Given the description of an element on the screen output the (x, y) to click on. 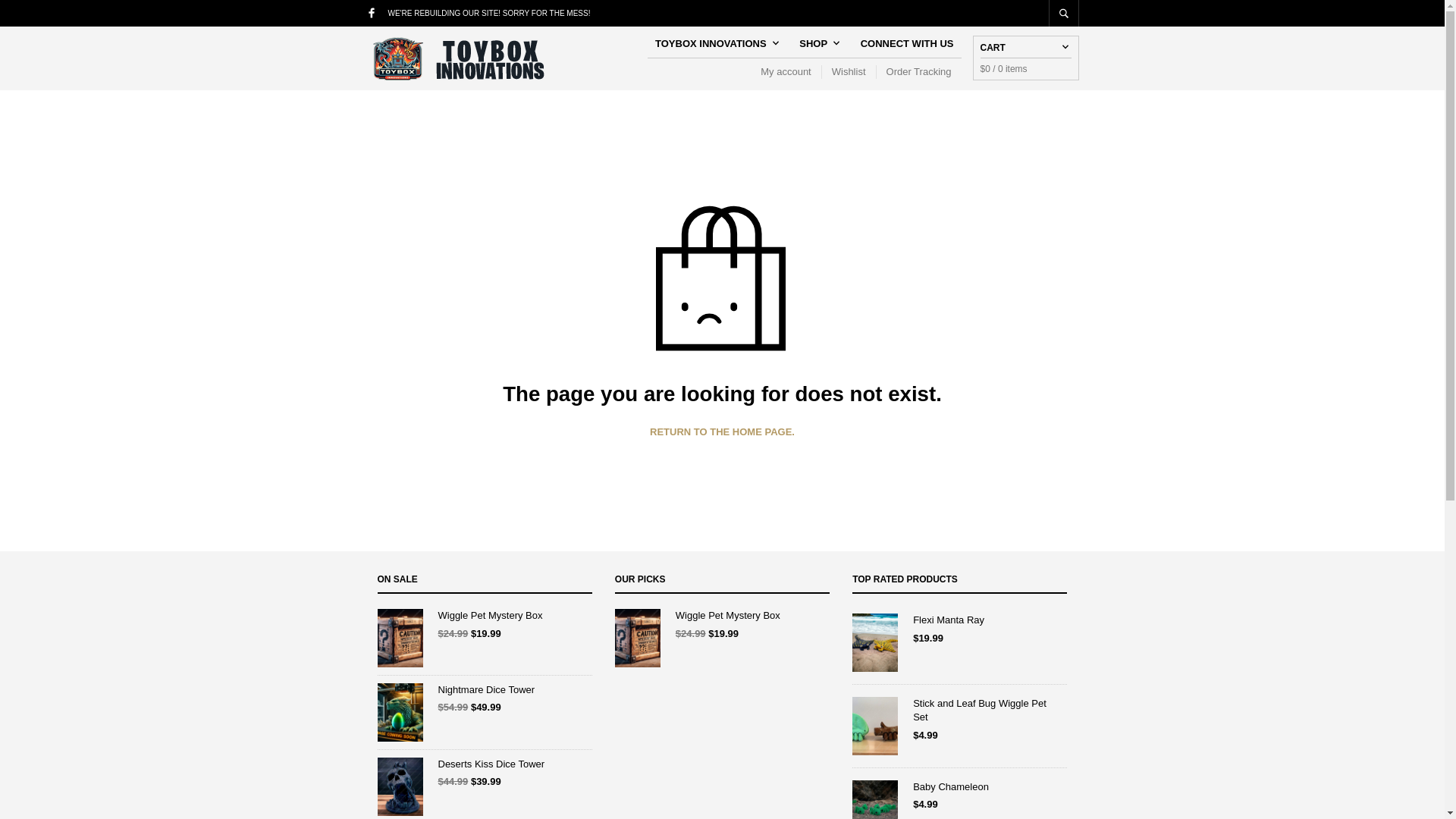
Stick and Leaf Bug Wiggle Pet Set (959, 709)
Flexi Manta Ray (959, 620)
Wiggle Pet Mystery Box (484, 615)
My account (790, 71)
Nightmare Dice Tower (484, 689)
CONNECT WITH US (906, 43)
RETURN TO THE HOME PAGE. (721, 431)
Deserts Kiss Dice Tower (484, 764)
Baby Chameleon (959, 786)
SHOP (817, 43)
